Given the description of an element on the screen output the (x, y) to click on. 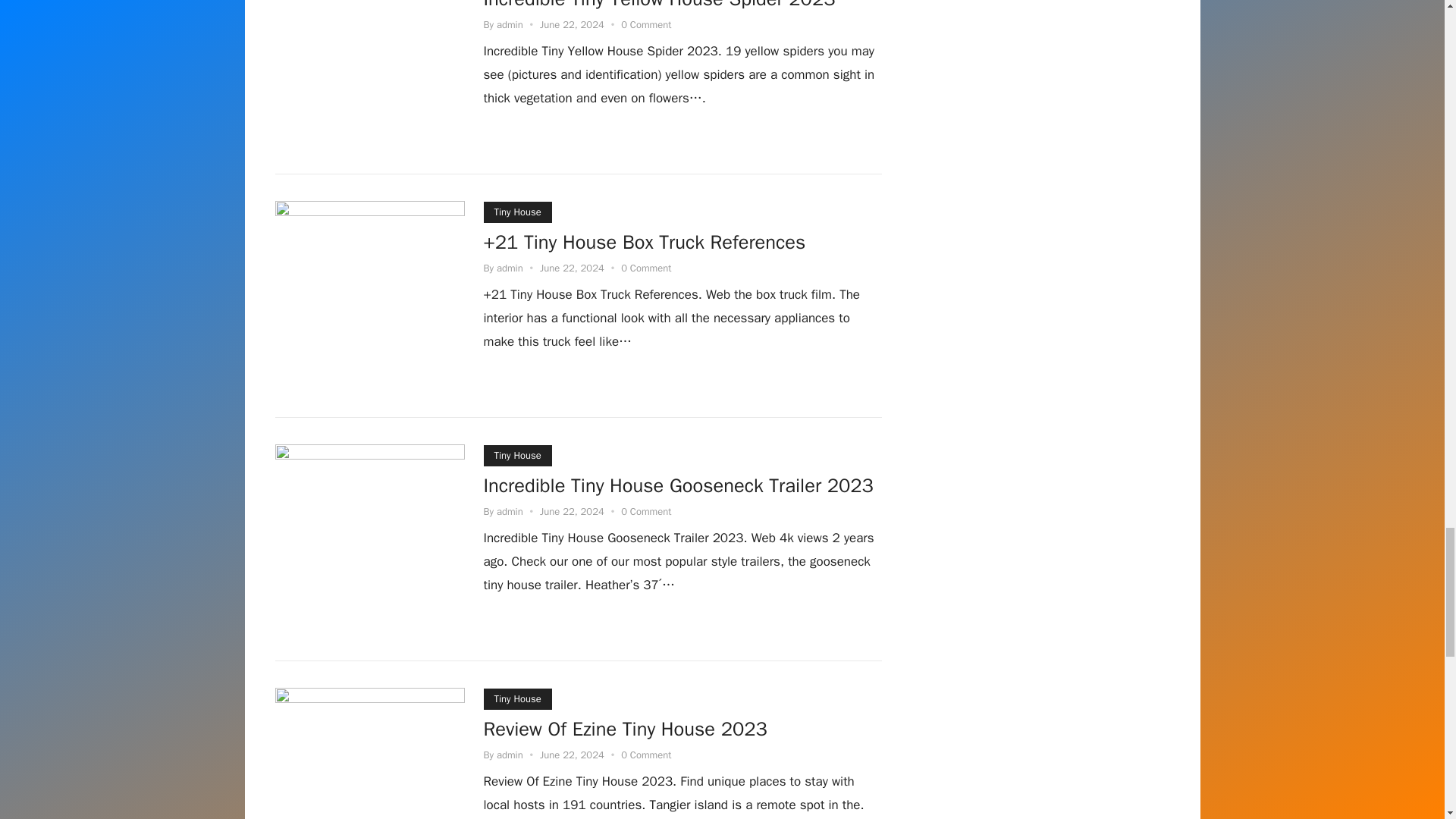
0 Comment (646, 267)
0 Comment (646, 511)
Incredible Tiny House Gooseneck Trailer 2023 (678, 487)
Incredible Tiny Yellow House Spider 2023 (659, 7)
0 Comment (646, 24)
admin (509, 511)
Posts by admin (509, 754)
admin (509, 24)
admin (509, 267)
Tiny House (517, 455)
